Given the description of an element on the screen output the (x, y) to click on. 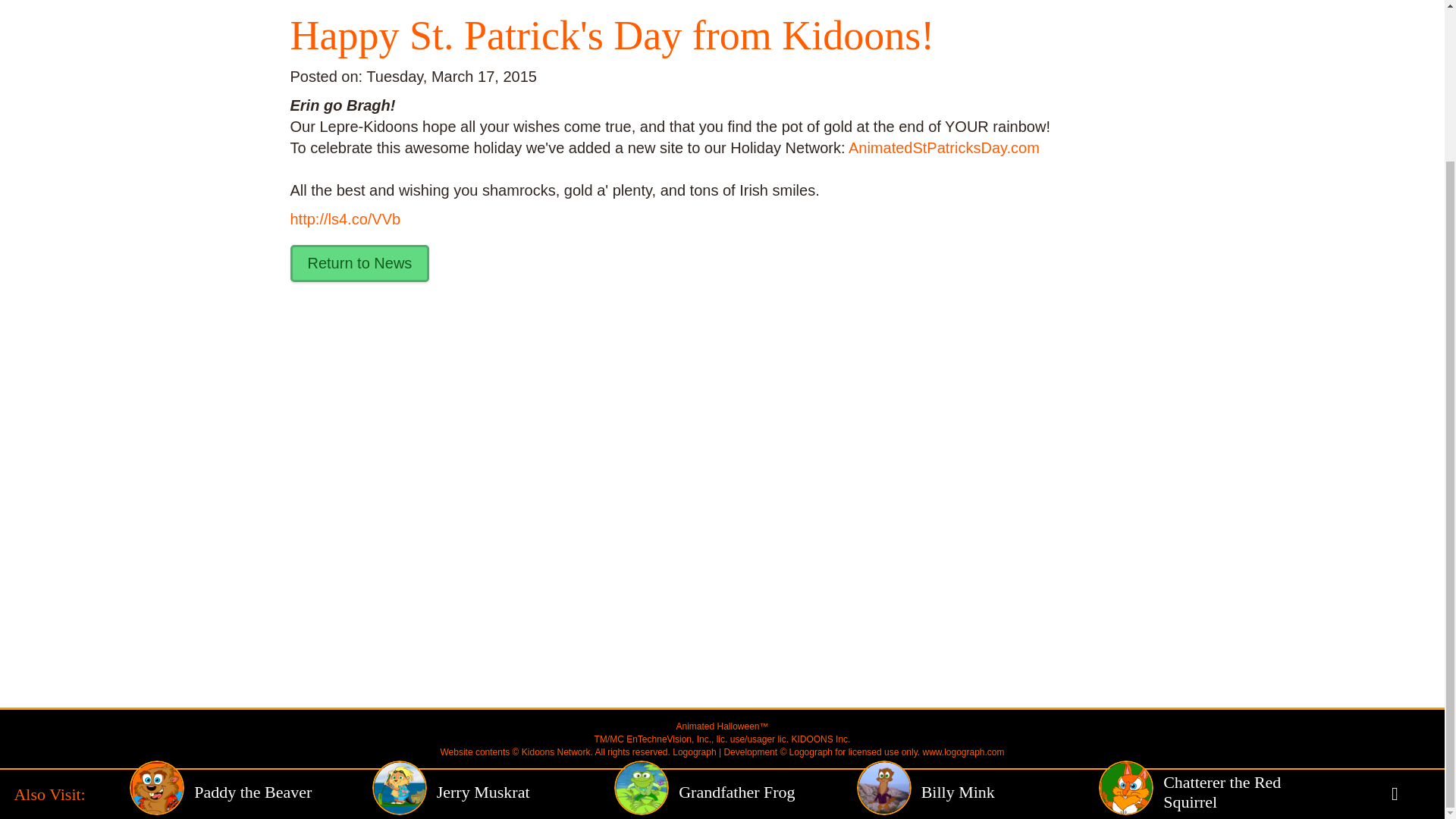
Return to News (359, 262)
AnimatedStPatricksDay.com (943, 147)
Chatterer the Red Squirrel (1219, 601)
Jerry Muskrat (493, 601)
www.logograph.com (962, 751)
KIDOONS Inc. (820, 738)
Grandfather Frog (735, 601)
Billy Mink (978, 601)
Paddy the Beaver (250, 601)
